Given the description of an element on the screen output the (x, y) to click on. 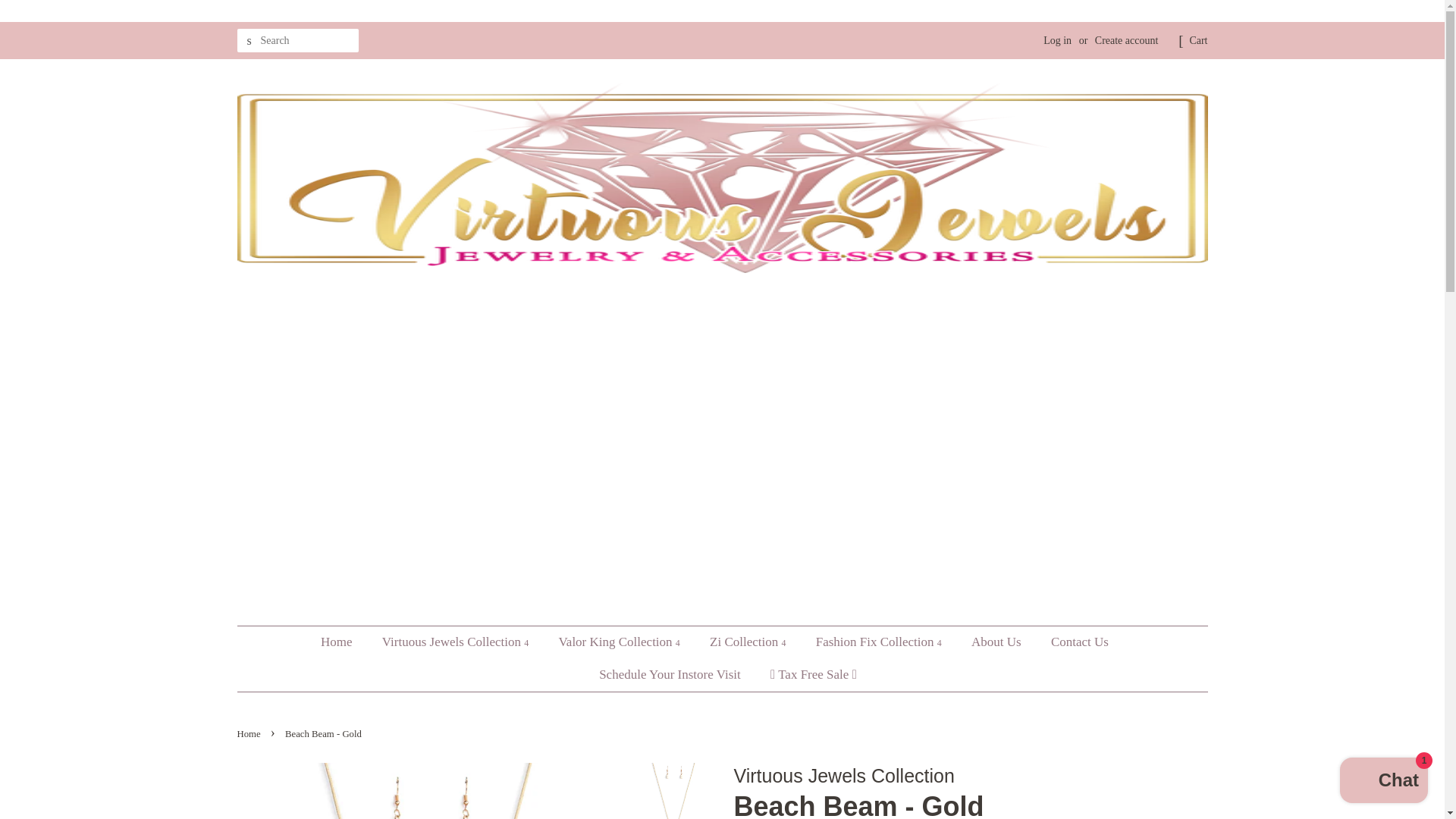
Cart (1198, 40)
Shopify online store chat (1383, 781)
Back to the frontpage (249, 733)
Create account (1126, 40)
Search (247, 41)
Log in (1057, 40)
